Given the description of an element on the screen output the (x, y) to click on. 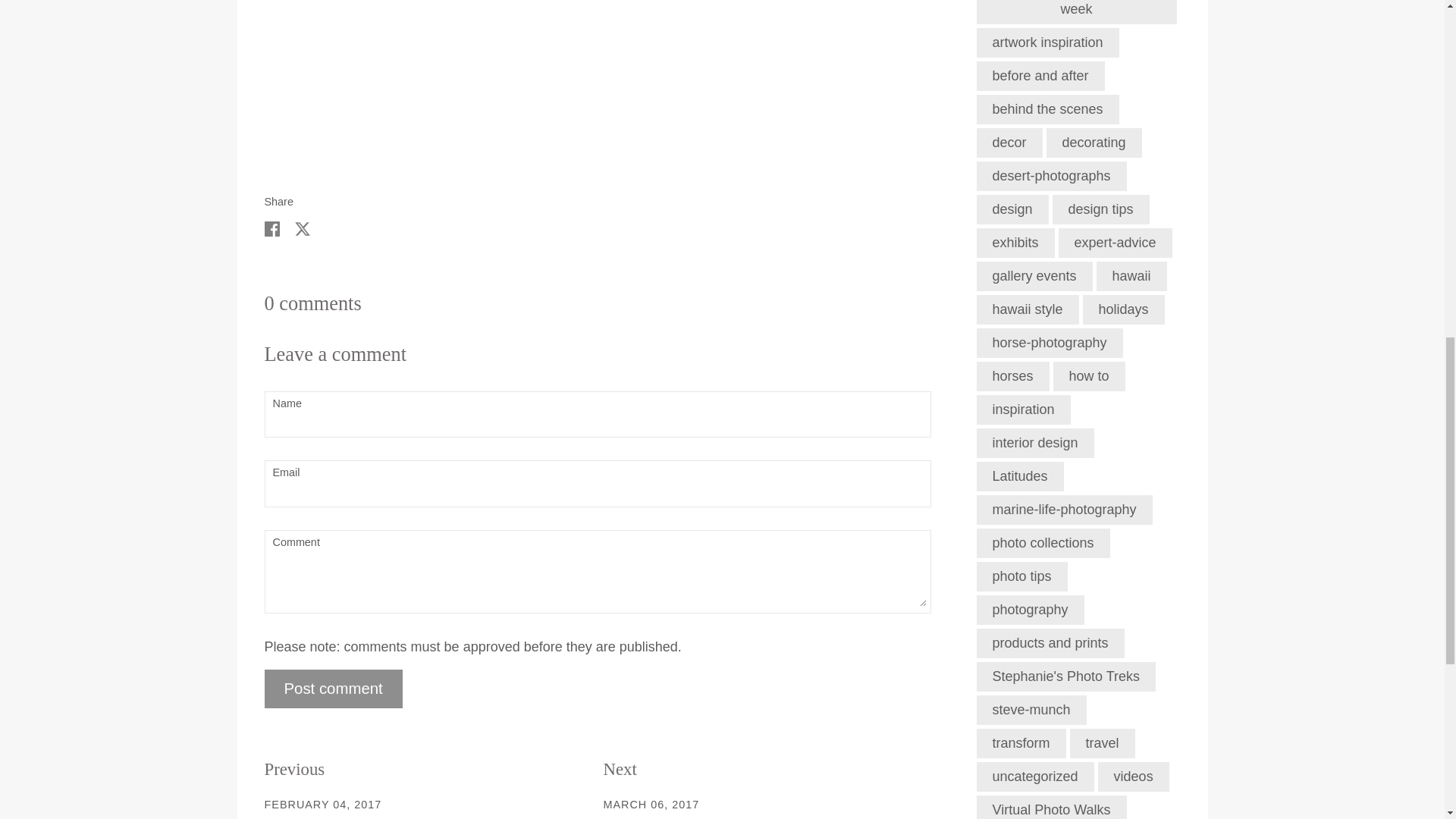
Post comment (332, 688)
